Given the description of an element on the screen output the (x, y) to click on. 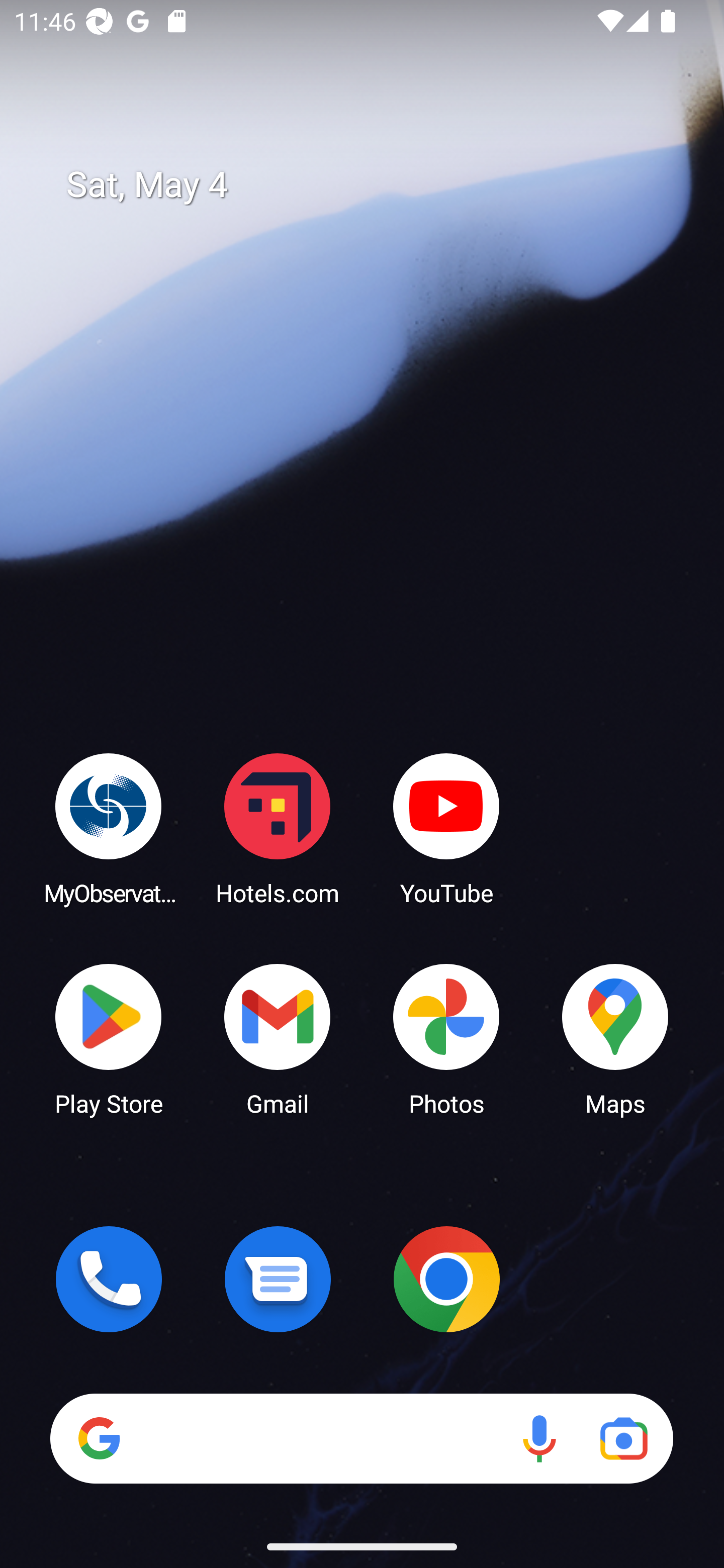
Sat, May 4 (375, 184)
MyObservatory (108, 828)
Hotels.com (277, 828)
YouTube (445, 828)
Play Store (108, 1038)
Gmail (277, 1038)
Photos (445, 1038)
Maps (615, 1038)
Phone (108, 1279)
Messages (277, 1279)
Chrome (446, 1279)
Search Voice search Google Lens (361, 1438)
Voice search (539, 1438)
Google Lens (623, 1438)
